Given the description of an element on the screen output the (x, y) to click on. 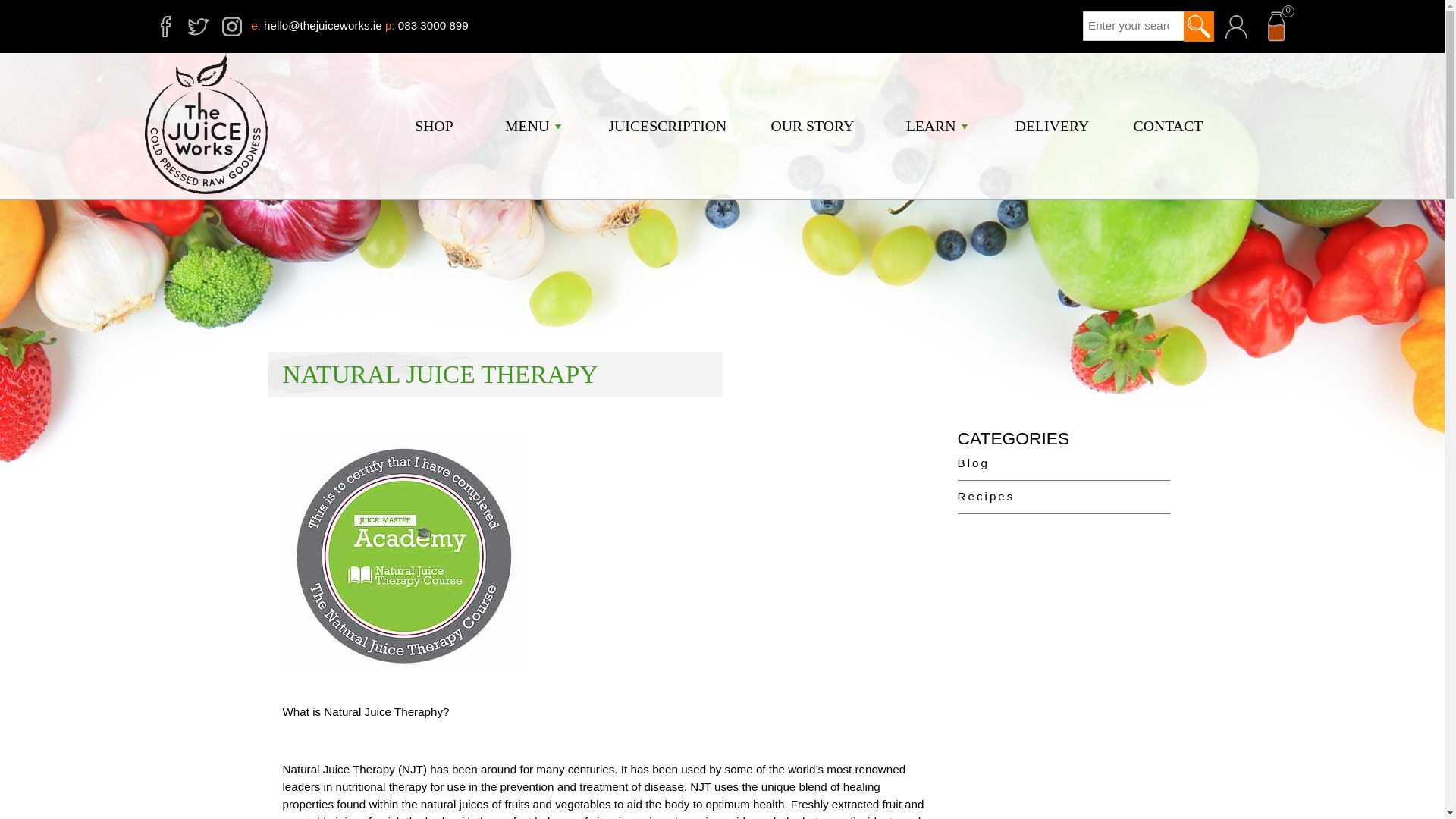
acc (1235, 27)
LEARN (934, 125)
DELIVERY (1051, 126)
083 3000 899 (432, 24)
Recipes (1062, 497)
OUR STORY (811, 126)
fb (165, 26)
MENU (530, 125)
ins (232, 26)
tw (199, 26)
Blog (1062, 463)
CONTACT (1169, 126)
SHOP (433, 126)
Search for: (1134, 25)
JUICESCRIPTION (667, 126)
